Given the description of an element on the screen output the (x, y) to click on. 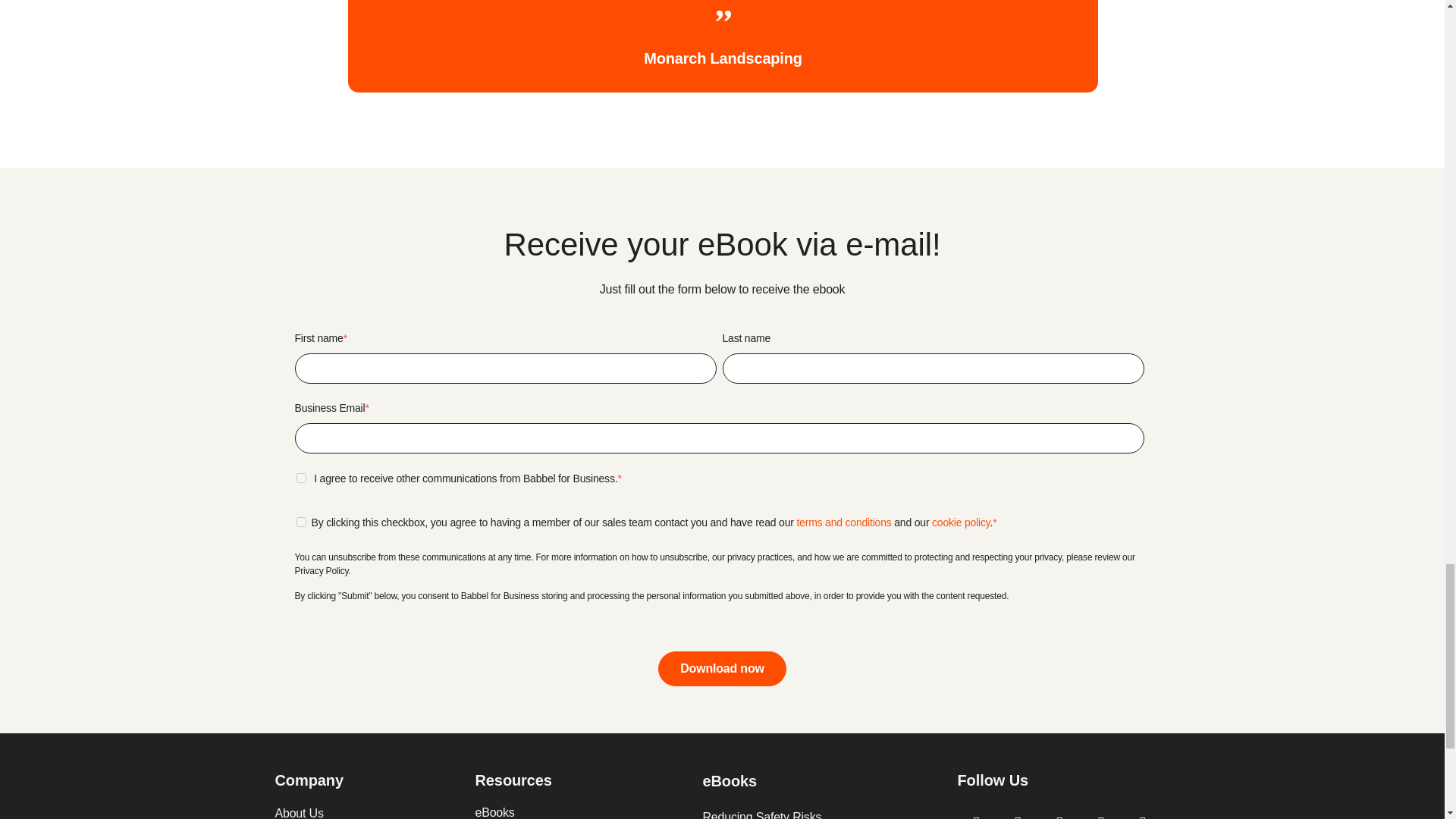
terms and conditions (843, 522)
eBooks (580, 811)
true (300, 478)
Download now (722, 668)
cookie policy (960, 522)
true (300, 521)
Download now (722, 668)
About Us (367, 812)
